Given the description of an element on the screen output the (x, y) to click on. 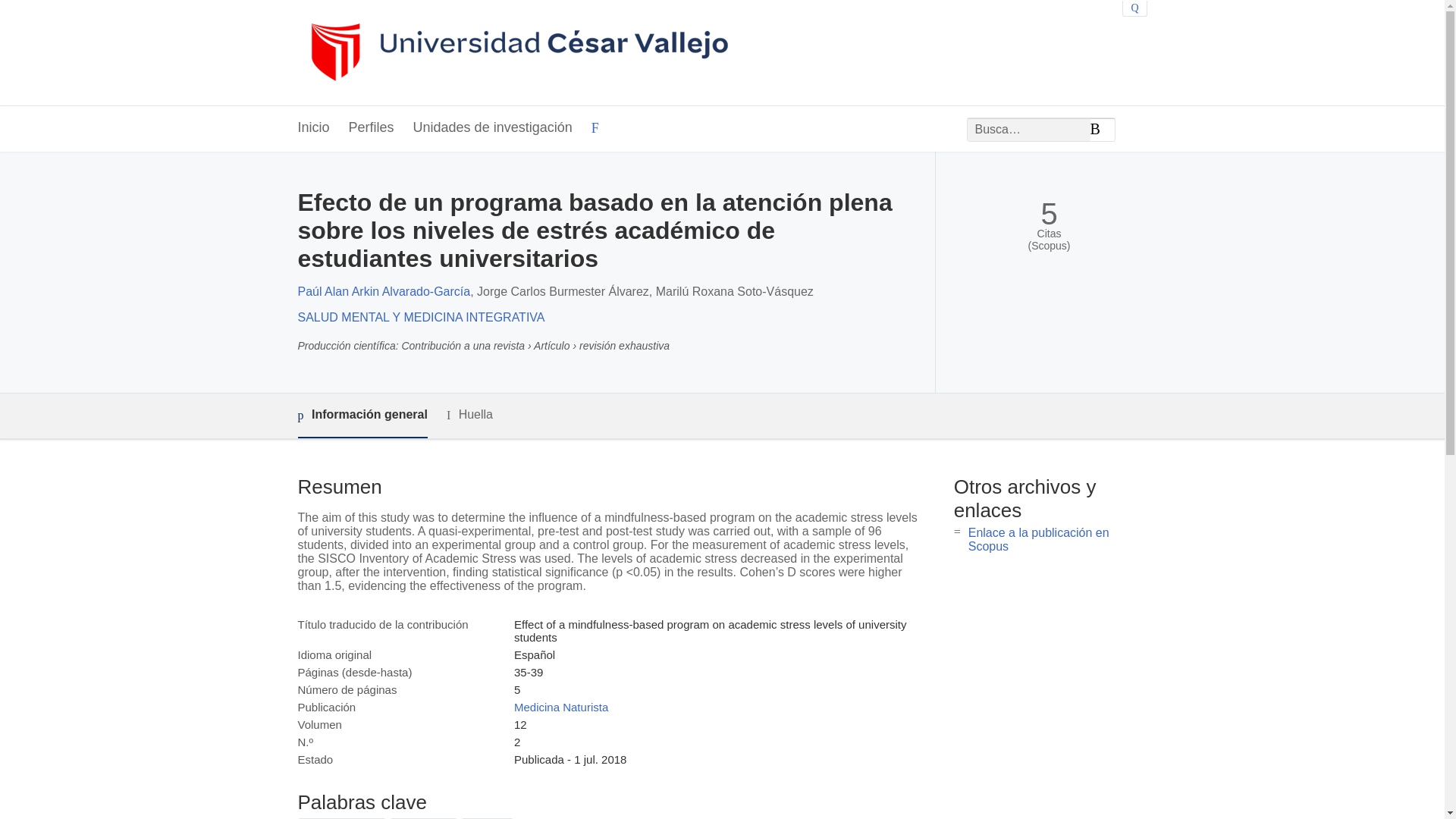
Medicina Naturista (560, 707)
Perfiles (371, 128)
Huella (469, 414)
SALUD MENTAL Y MEDICINA INTEGRATIVA (420, 317)
